Given the description of an element on the screen output the (x, y) to click on. 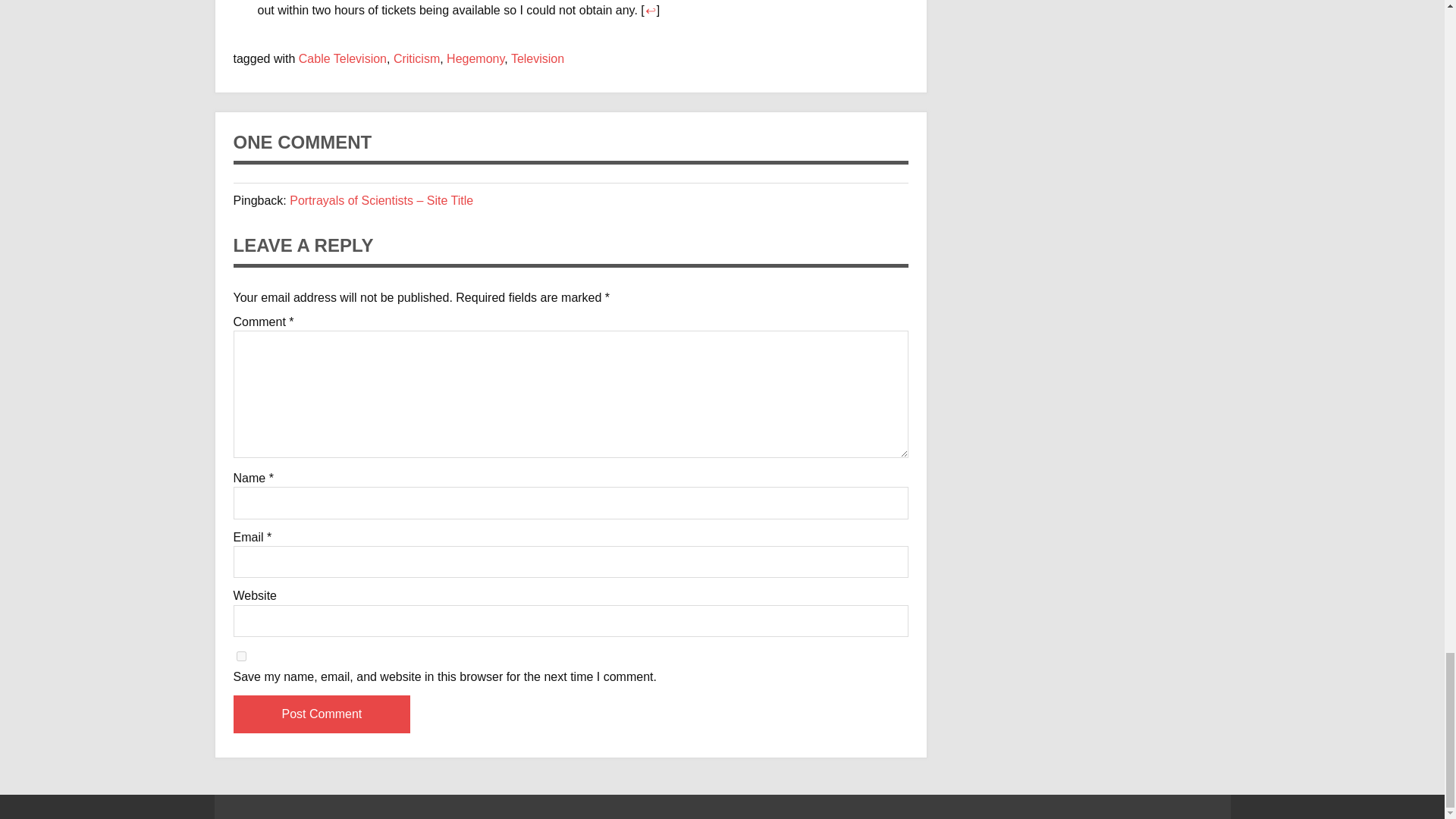
Hegemony (474, 58)
Post Comment (321, 714)
Criticism (416, 58)
Post Comment (321, 714)
yes (240, 655)
Television (537, 58)
Cable Television (342, 58)
